Given the description of an element on the screen output the (x, y) to click on. 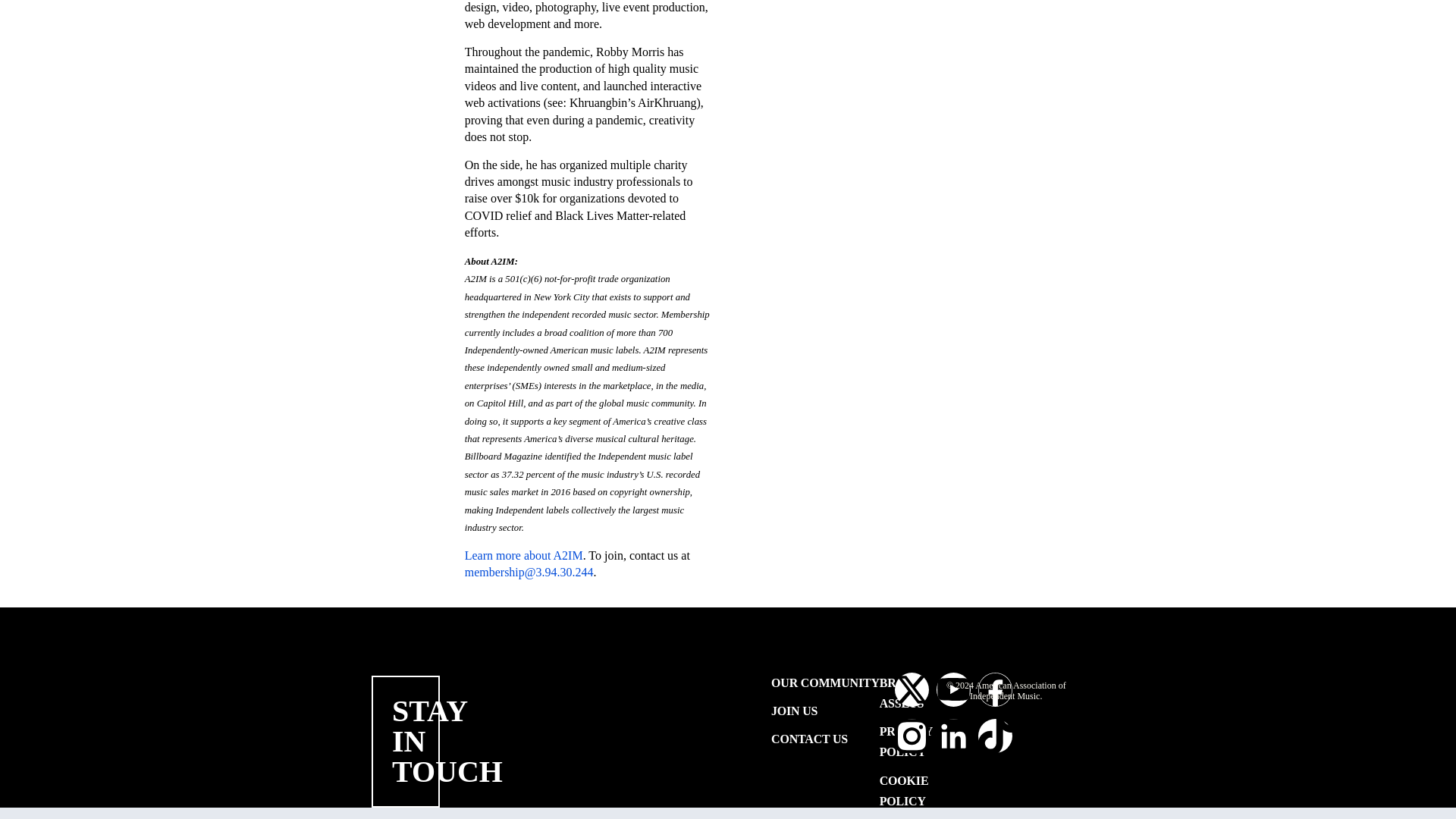
JOIN US (825, 711)
STAY IN TOUCH (446, 740)
Learn more about A2IM (523, 554)
CONTACT US (825, 738)
OUR COMMUNITY (825, 682)
